Given the description of an element on the screen output the (x, y) to click on. 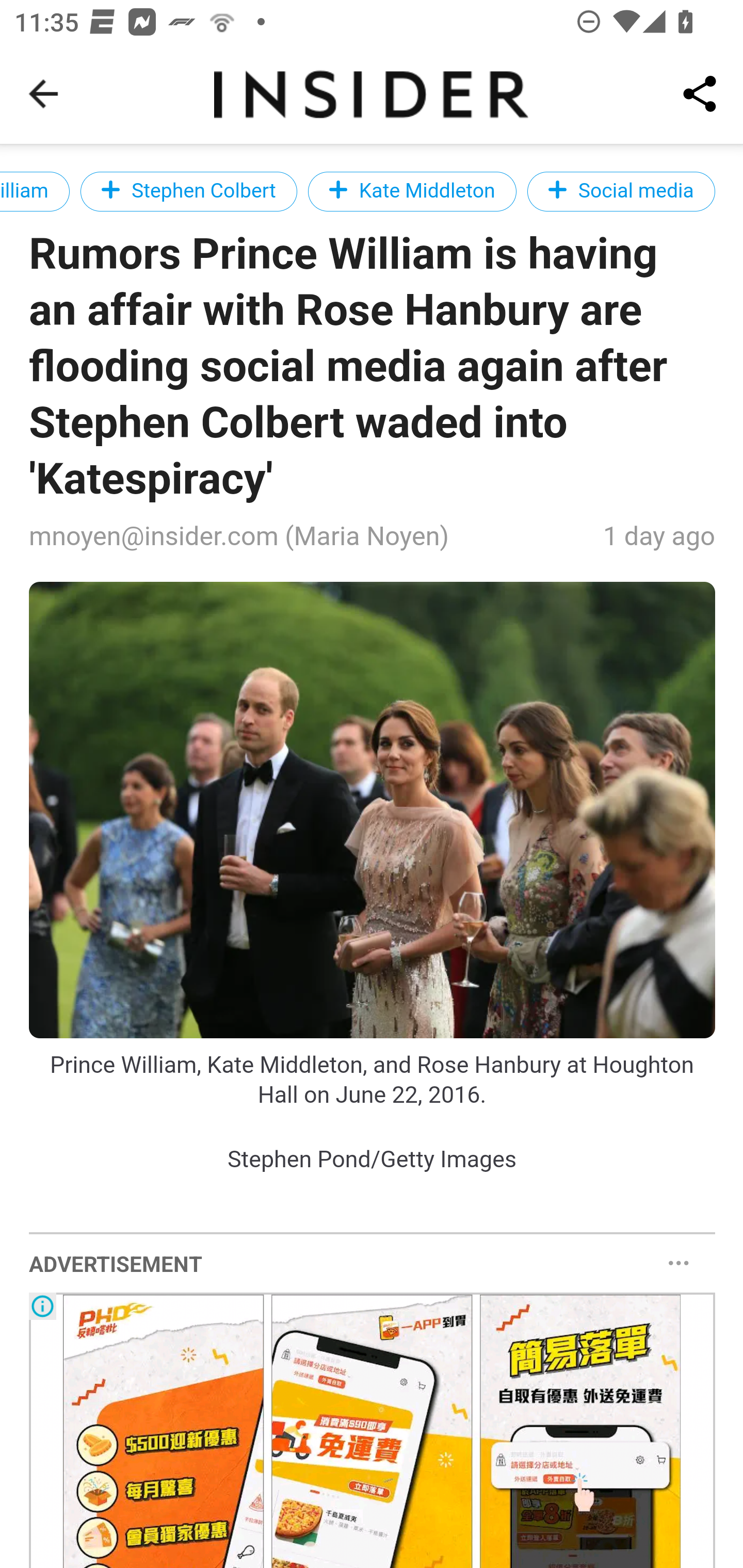
Stephen Colbert (188, 191)
Kate Middleton (411, 191)
Social media (620, 191)
?url=https%3A%2F%2Fi.insider (372, 810)
